Given the description of an element on the screen output the (x, y) to click on. 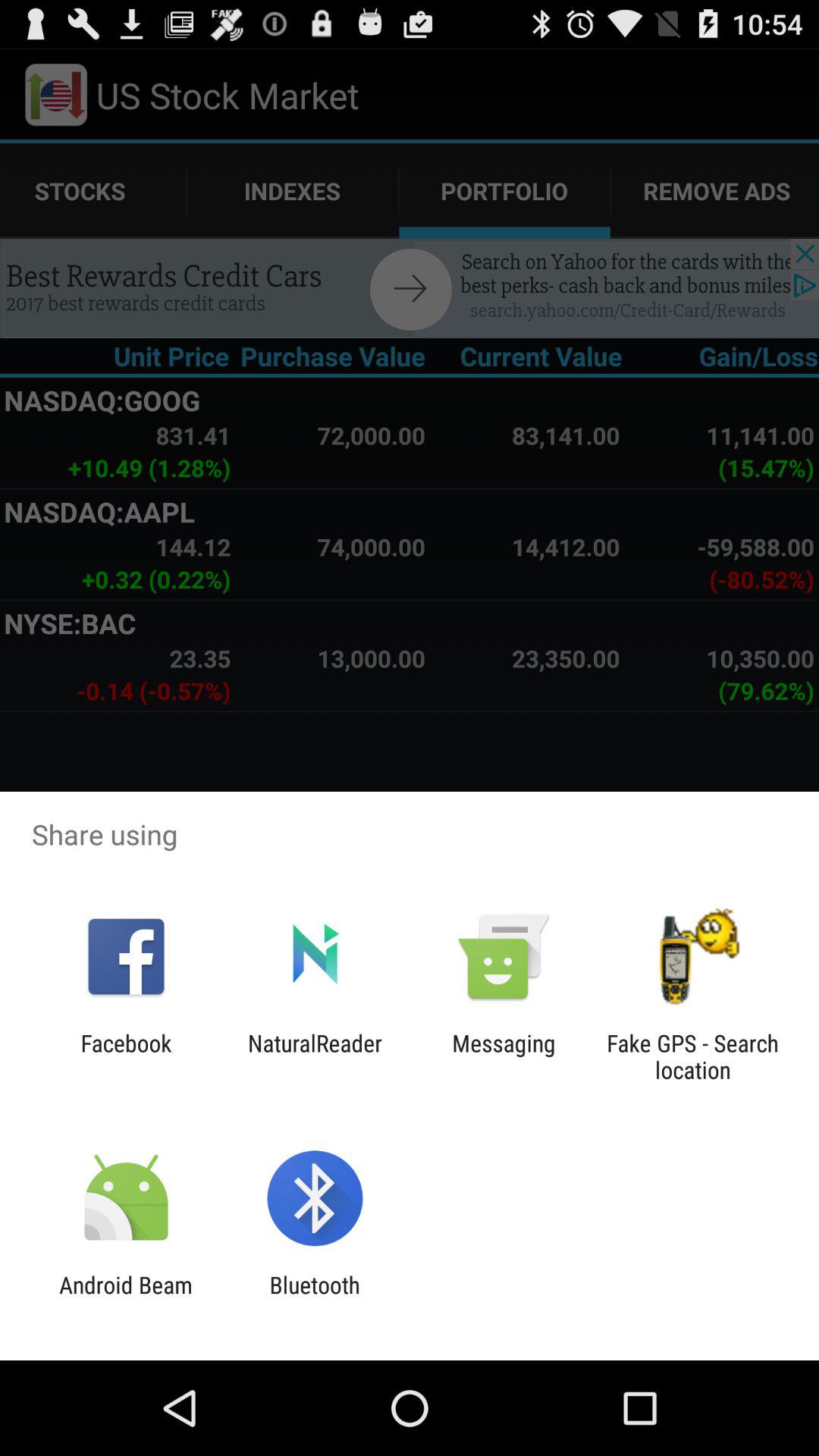
tap icon next to the messaging icon (314, 1056)
